Given the description of an element on the screen output the (x, y) to click on. 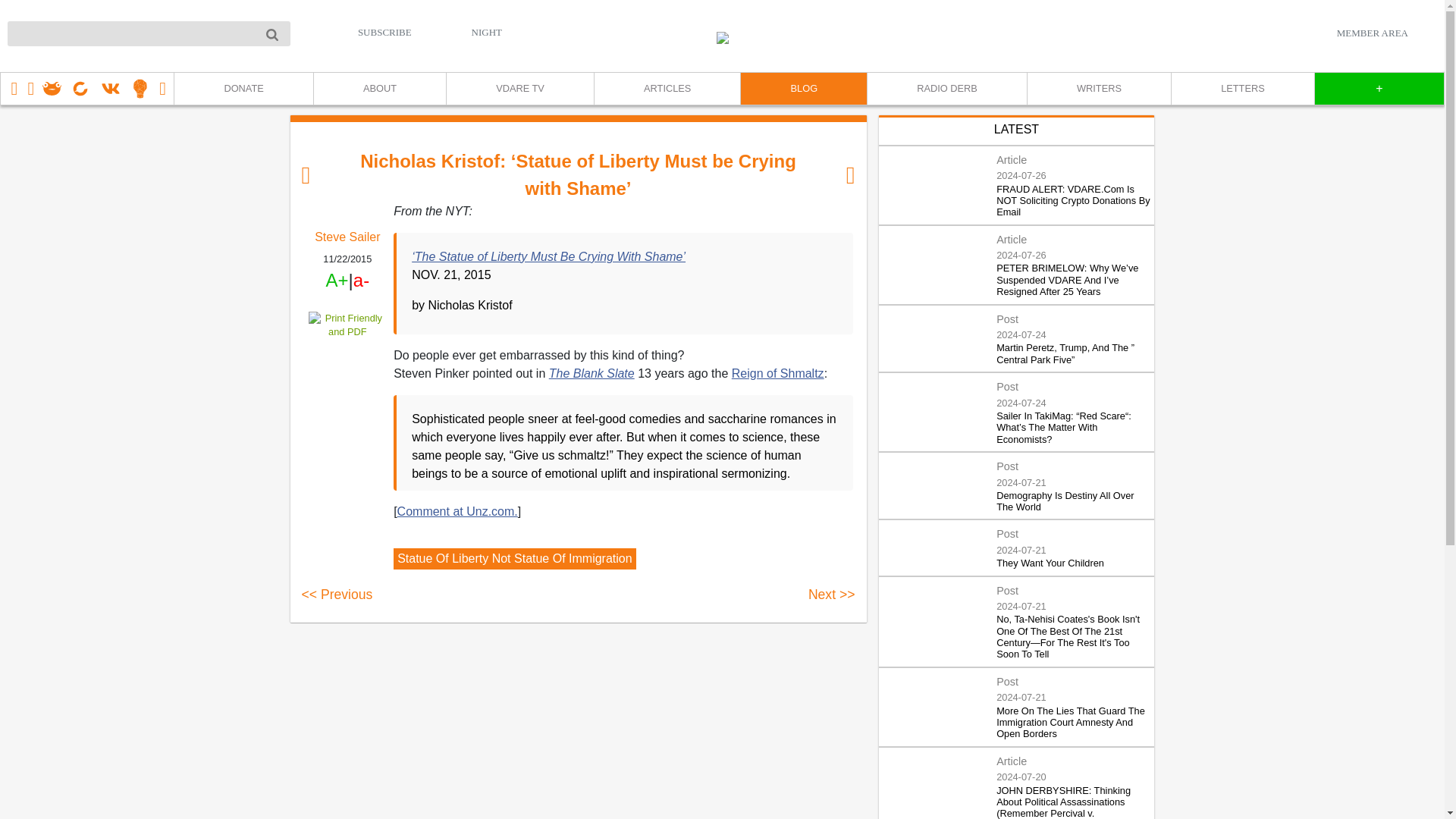
SUBSCRIBE (385, 31)
WRITERS (1098, 88)
Share to Email (347, 416)
Share to Twitter (347, 371)
RADIO DERB (946, 88)
VDARE TV (519, 88)
ABOUT (379, 88)
LETTERS (1242, 88)
Printer Friendly and PDF (347, 324)
BLOG (802, 88)
